Given the description of an element on the screen output the (x, y) to click on. 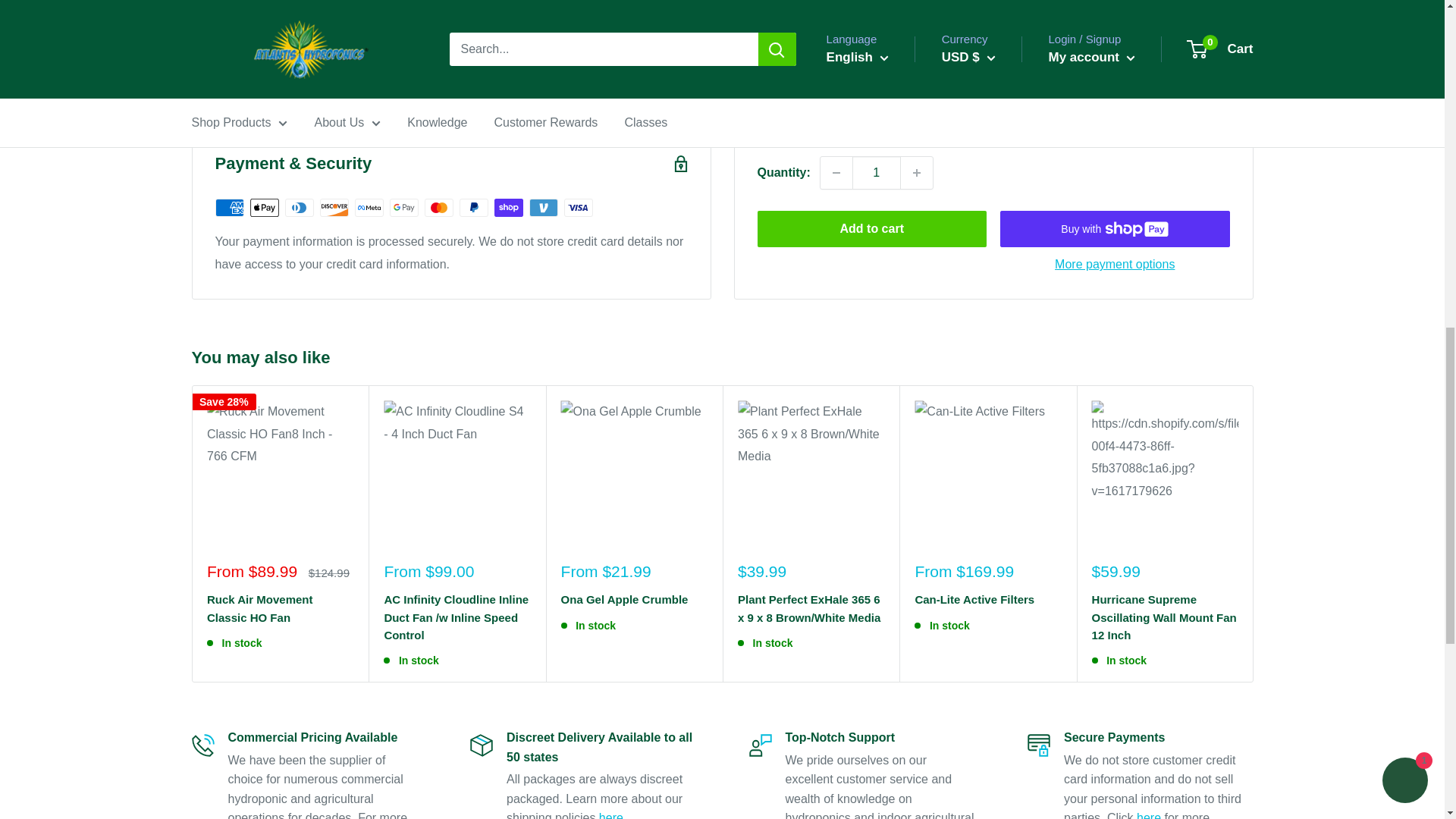
Privacy Policy (1148, 815)
